Given the description of an element on the screen output the (x, y) to click on. 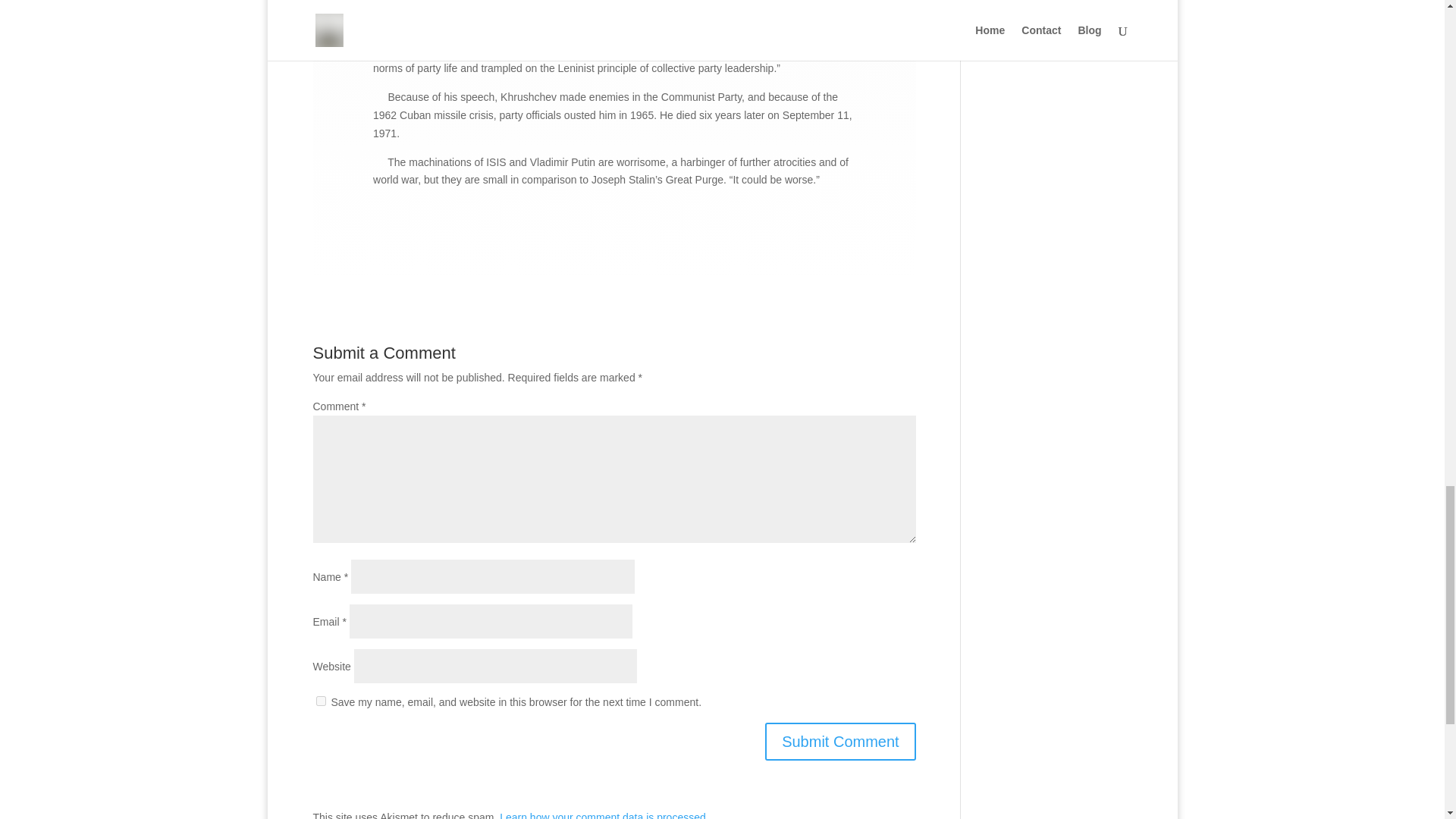
Submit Comment (840, 741)
Submit Comment (840, 741)
Learn how your comment data is processed (602, 815)
yes (319, 700)
